Given the description of an element on the screen output the (x, y) to click on. 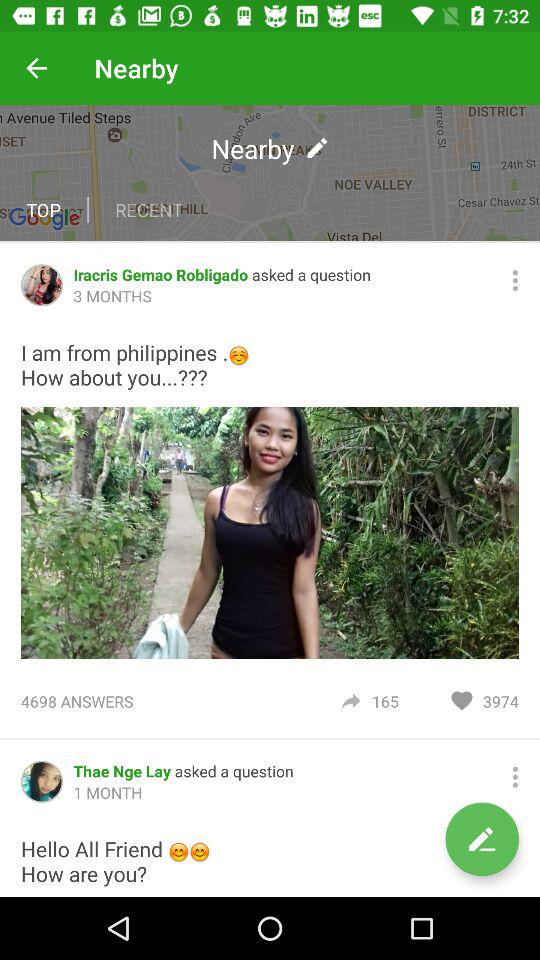
launch the recent icon (148, 209)
